Given the description of an element on the screen output the (x, y) to click on. 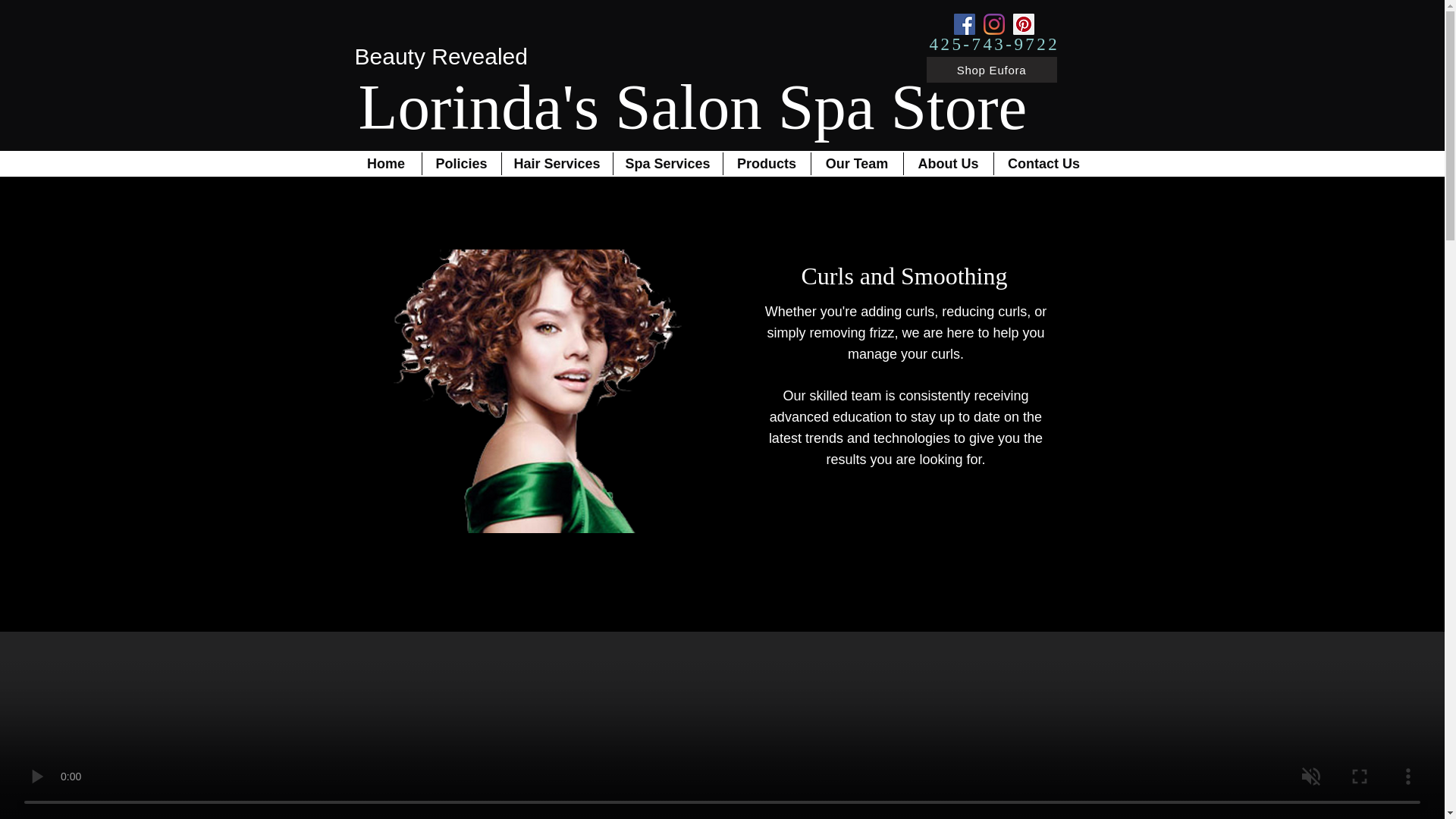
Our Team (856, 163)
Shop Eufora (991, 69)
Hair Services (557, 163)
Policies (461, 163)
About Us (948, 163)
Products (766, 163)
Lorinda's Salon Spa Store (692, 106)
Spa Services (667, 163)
Home (385, 163)
Contact Us (1042, 163)
